Given the description of an element on the screen output the (x, y) to click on. 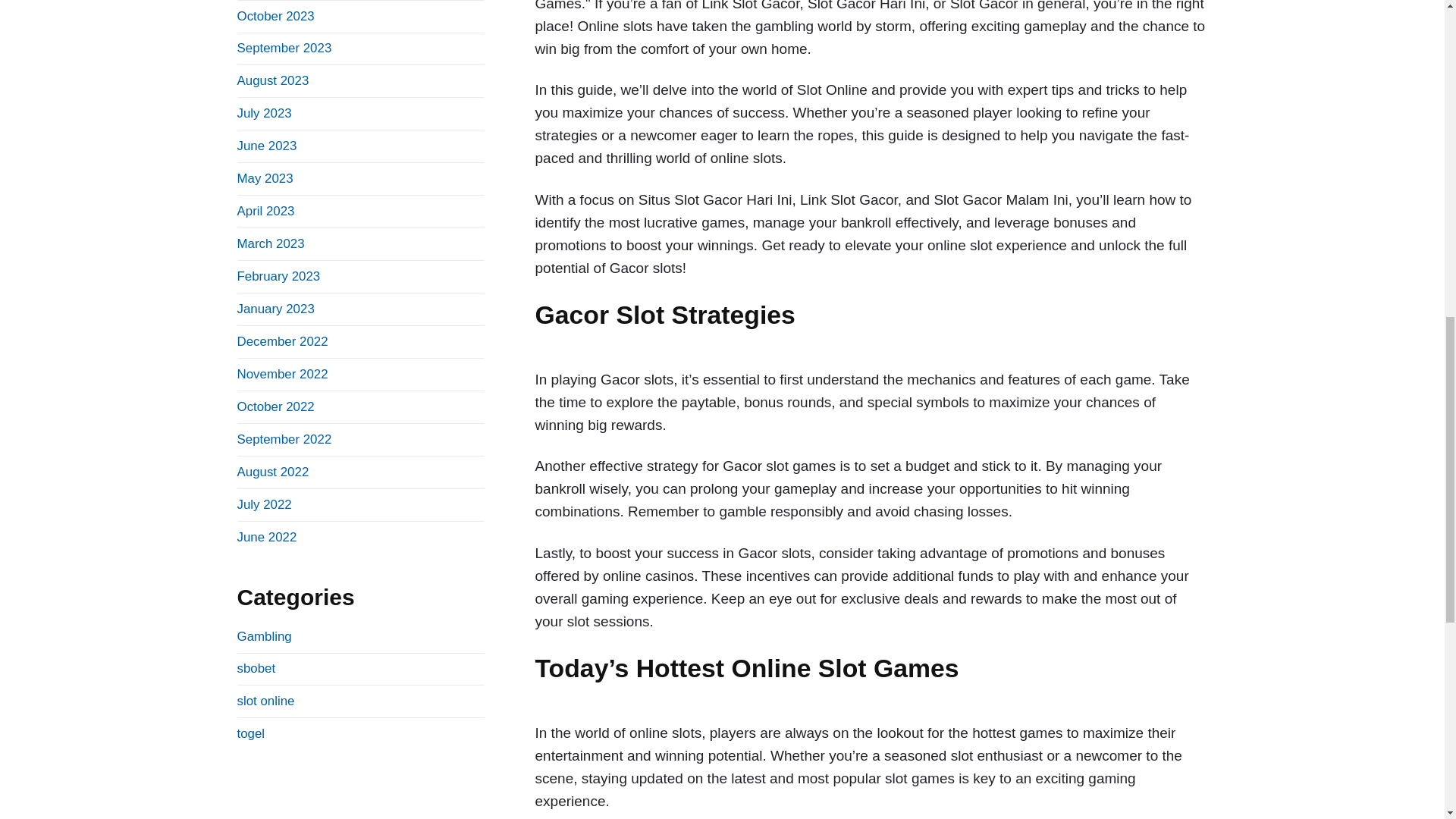
July 2023 (263, 113)
March 2023 (269, 243)
October 2022 (274, 406)
January 2023 (274, 309)
May 2023 (263, 178)
June 2023 (266, 145)
August 2022 (271, 472)
October 2023 (274, 16)
August 2023 (271, 80)
September 2023 (283, 47)
February 2023 (277, 276)
December 2022 (281, 341)
April 2023 (264, 210)
September 2022 (283, 439)
November 2022 (281, 373)
